Given the description of an element on the screen output the (x, y) to click on. 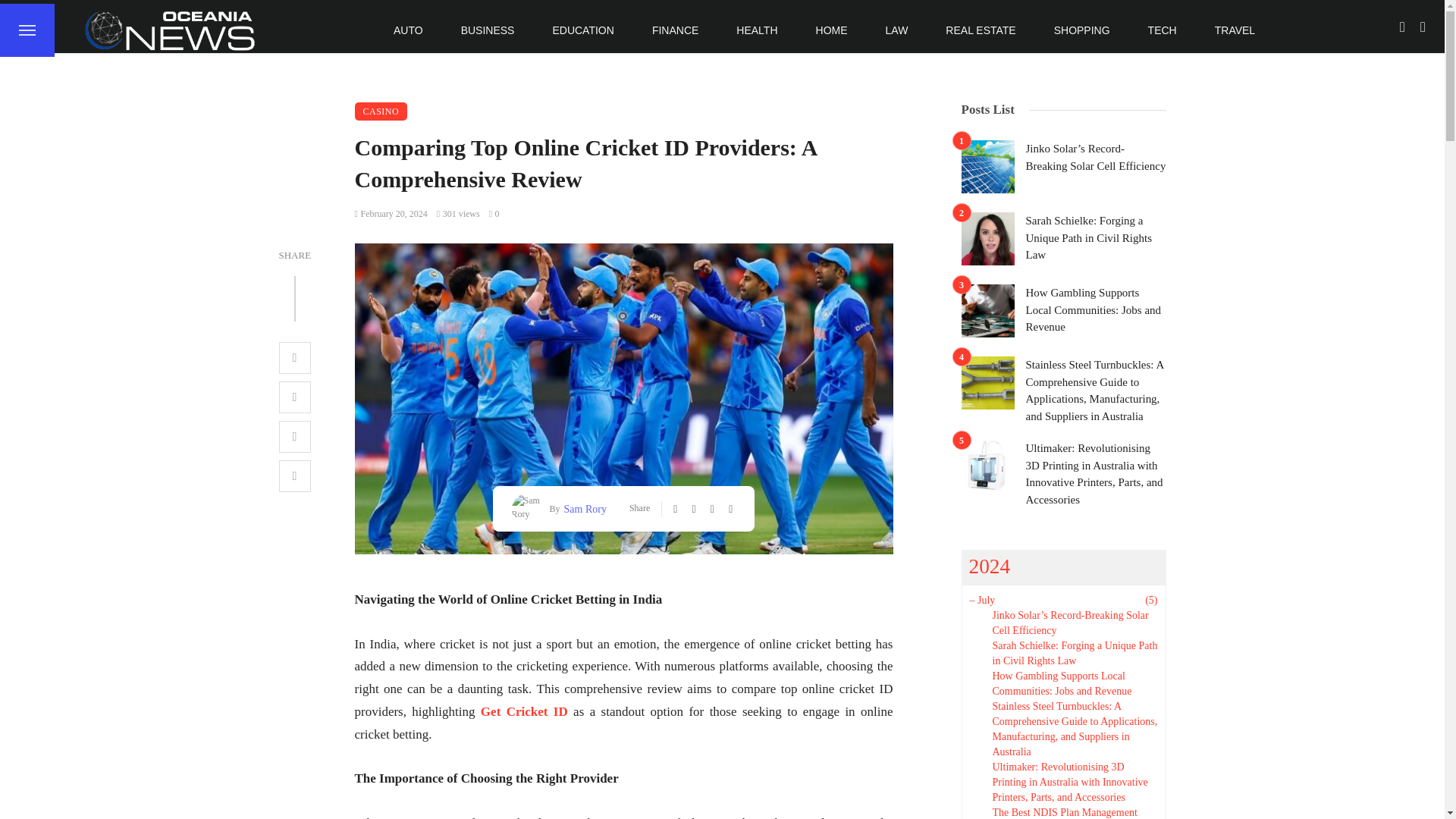
EDUCATION (581, 30)
Share on Pinterest (295, 436)
0 (494, 213)
AUTO (408, 30)
TRAVEL (1234, 30)
Sam Rory (583, 508)
SHOPPING (1082, 30)
BUSINESS (488, 30)
REAL ESTATE (979, 30)
Share on Linkedin (295, 476)
Posts by Sam Rory (583, 508)
LAW (896, 30)
HOME (831, 30)
0 Comments (494, 213)
Share on Facebook (295, 357)
